Given the description of an element on the screen output the (x, y) to click on. 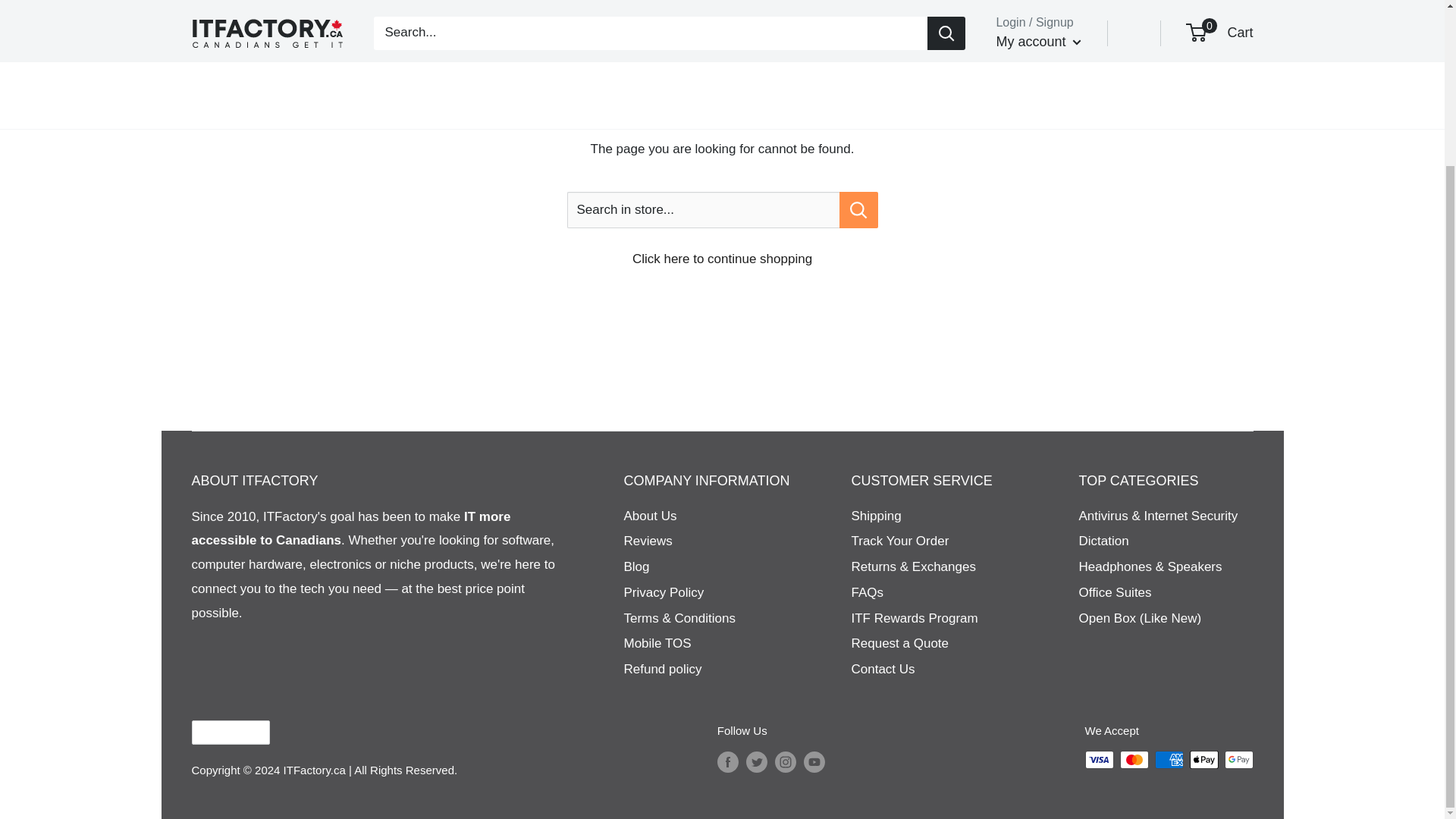
Mobile TOS (710, 643)
Privacy Policy (710, 592)
Blog (710, 566)
COMPANY INFORMATION (710, 481)
ABOUT ITFACTORY (380, 481)
About Us (710, 516)
Click here to continue shopping (721, 258)
Reviews (710, 541)
